Given the description of an element on the screen output the (x, y) to click on. 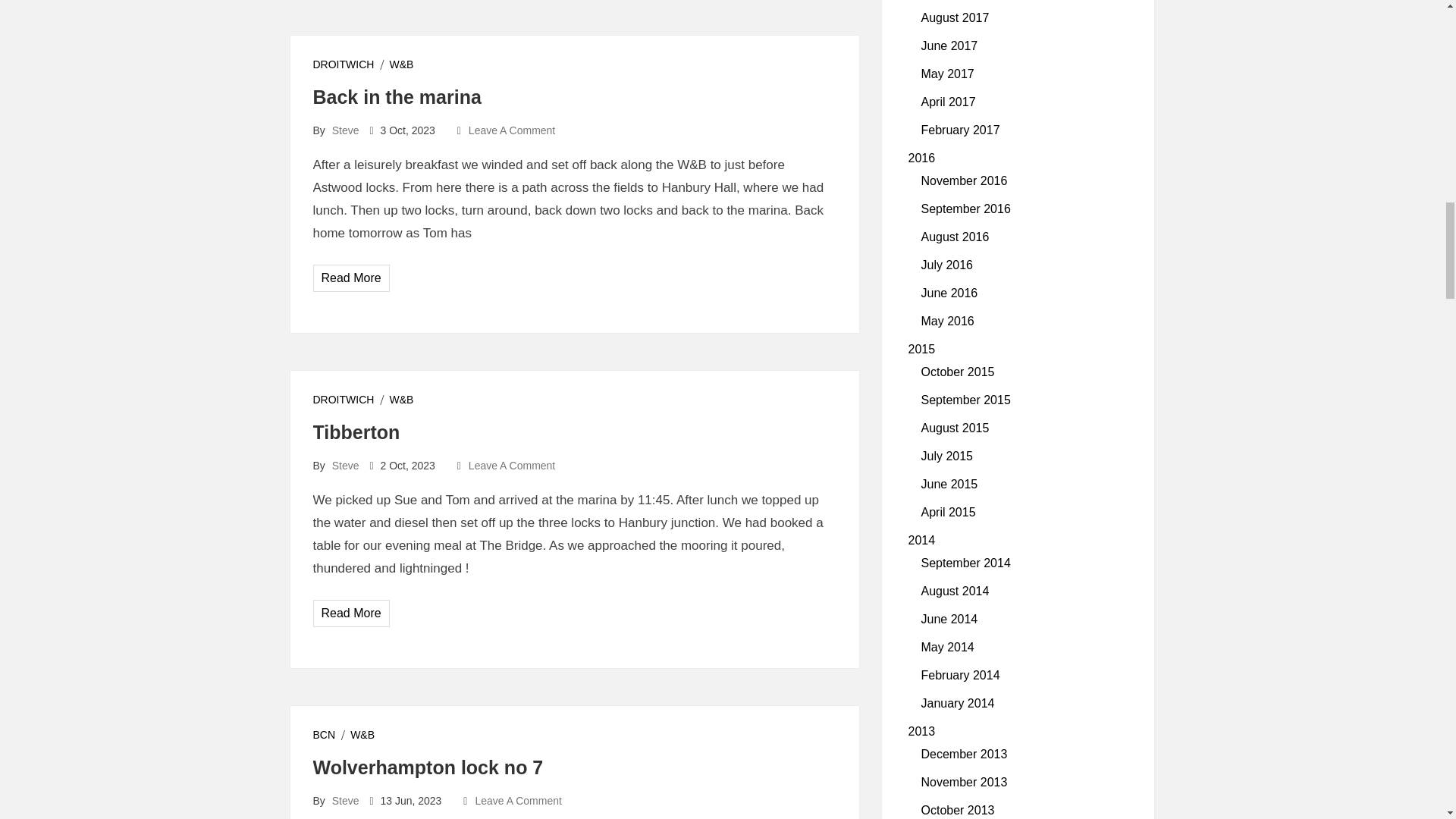
Wolverhampton lock no 7 (428, 767)
Leave A Comment (511, 465)
Steve (345, 465)
Tibberton (355, 432)
Read More (351, 277)
Steve (345, 800)
Leave A Comment (511, 130)
Read More (351, 612)
DROITWICH (343, 63)
Steve (345, 130)
